Given the description of an element on the screen output the (x, y) to click on. 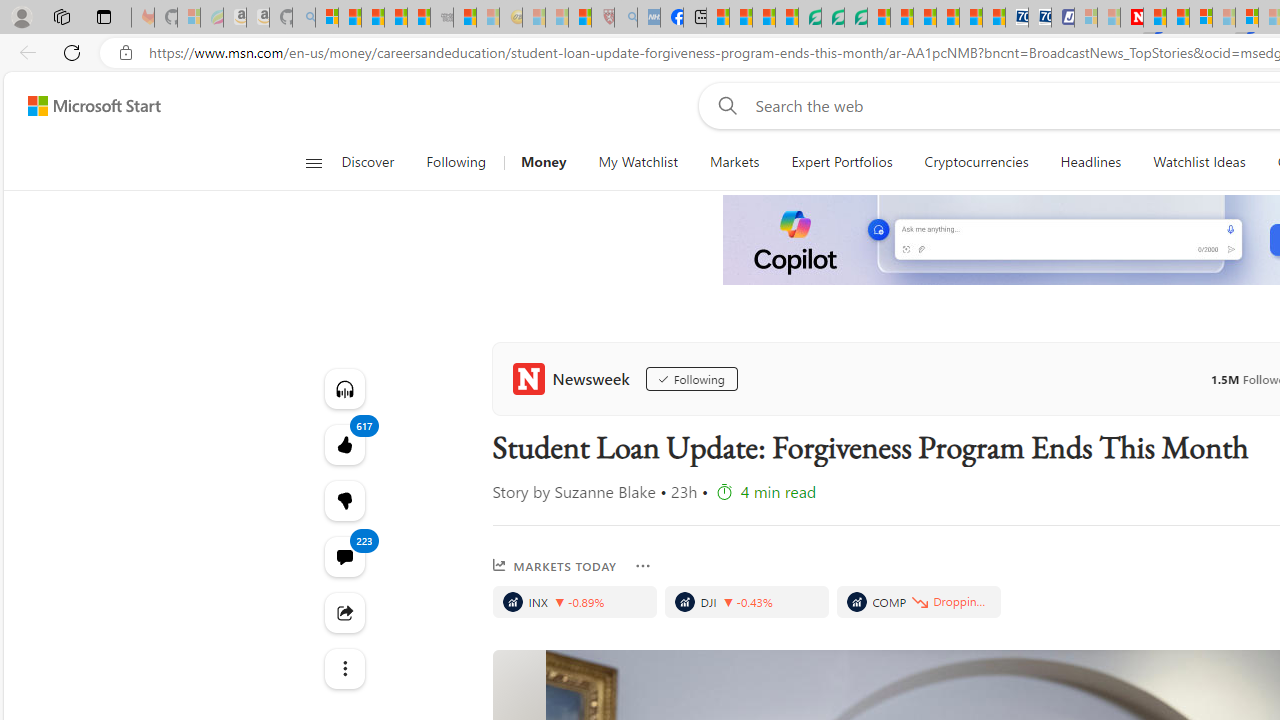
Cheap Hotels - Save70.com (1039, 17)
Web search (724, 105)
The Weather Channel - MSN (372, 17)
Price decrease (727, 601)
Watchlist Ideas (1199, 162)
Class: button-glyph (313, 162)
My Watchlist (637, 162)
Markets (734, 162)
DJI, DOW. Price is 40,712.78. Decreased by -0.43% (746, 601)
